Given the description of an element on the screen output the (x, y) to click on. 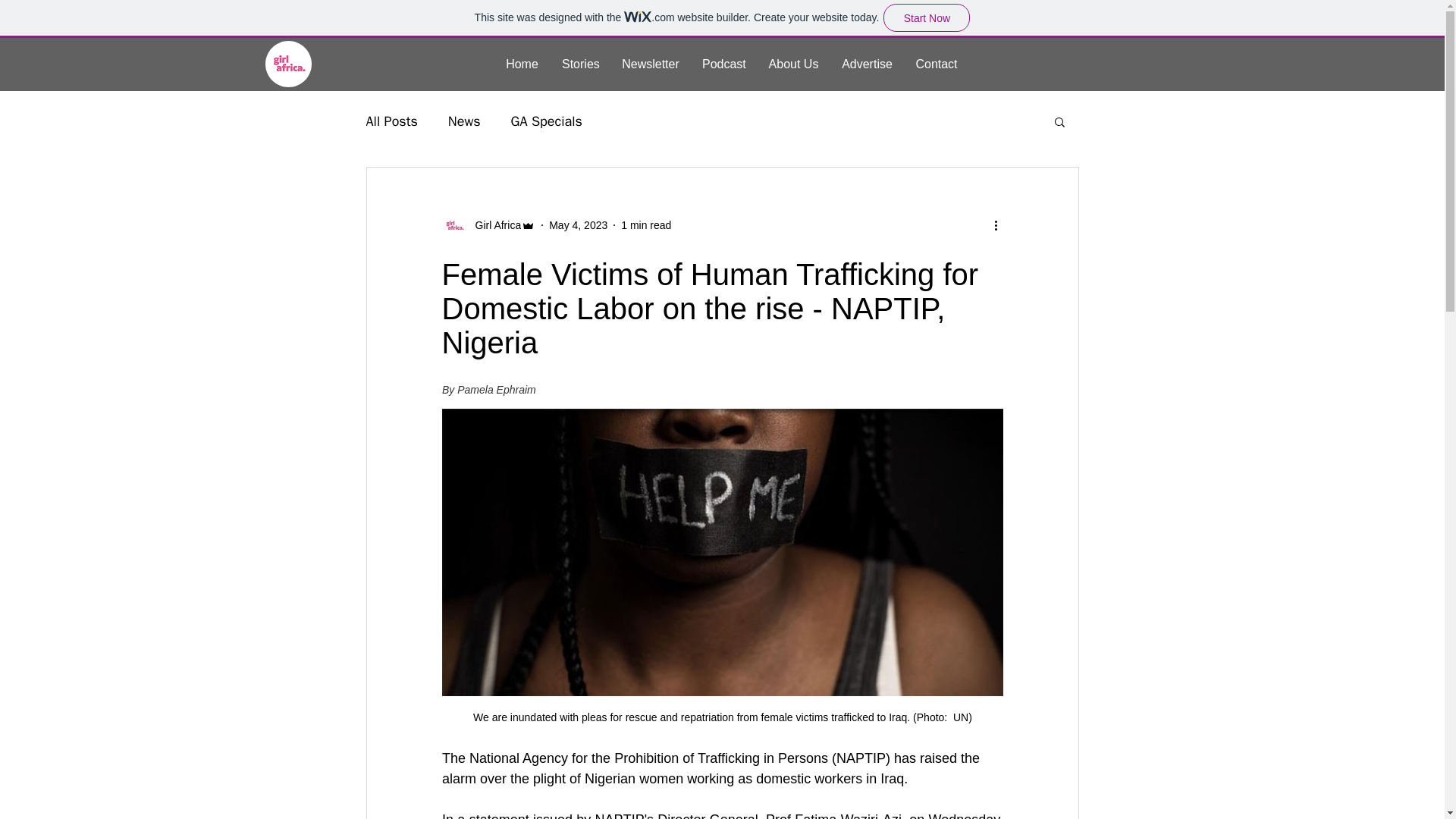
Newsletter (650, 63)
Contact (936, 63)
1 min read (646, 224)
Advertise (866, 63)
All Posts (390, 121)
GA Specials (546, 121)
May 4, 2023 (577, 224)
Home (521, 63)
Girl Africa (488, 224)
Podcast (723, 63)
